Given the description of an element on the screen output the (x, y) to click on. 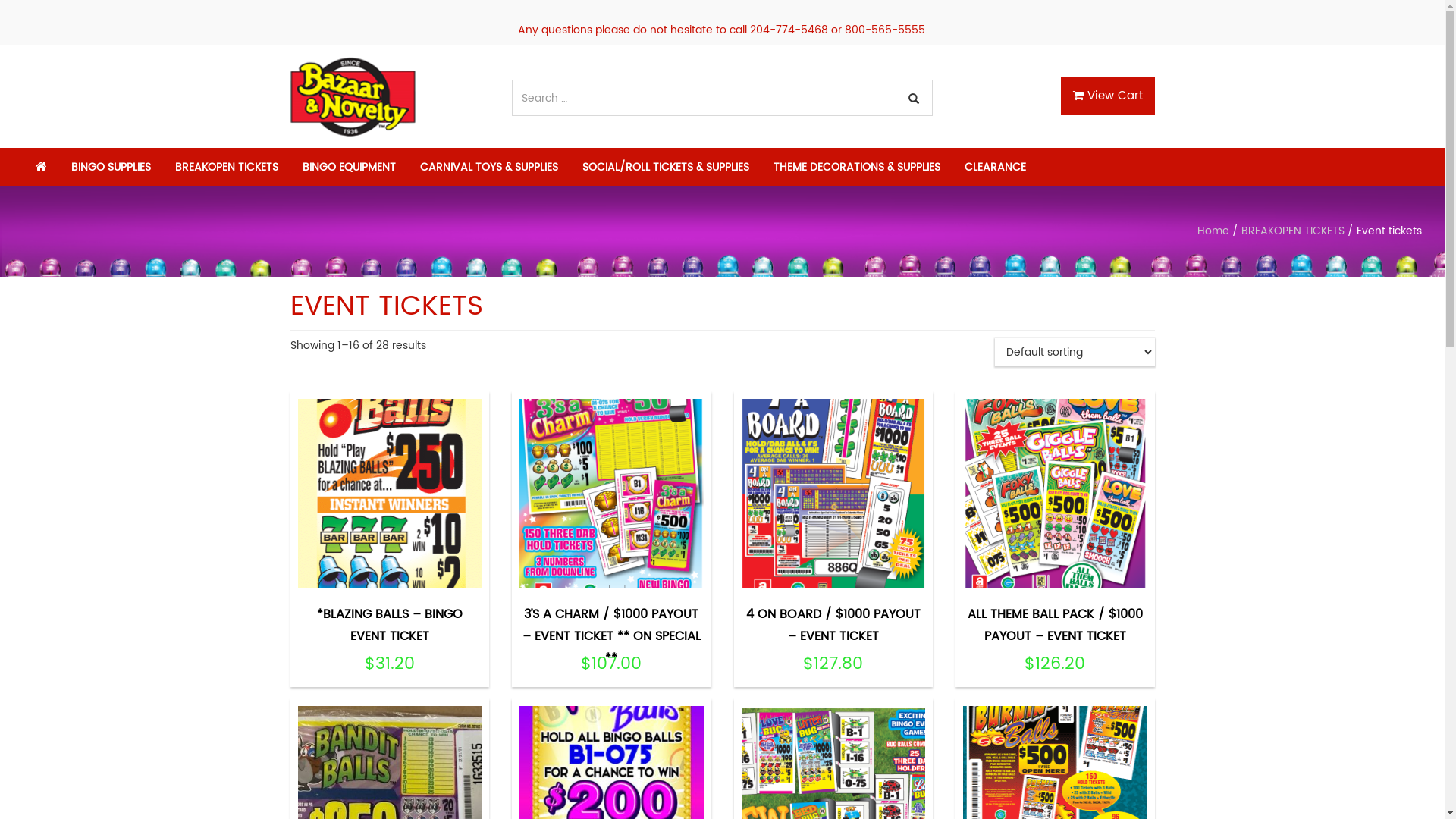
BINGO EQUIPMENT Element type: text (348, 166)
THEME DECORATIONS & SUPPLIES Element type: text (856, 166)
View Cart Element type: text (1107, 95)
Home Element type: text (1213, 230)
800-565-5555 Element type: text (884, 29)
204-774-5468 Element type: text (788, 29)
BREAKOPEN TICKETS Element type: text (1292, 230)
SOCIAL/ROLL TICKETS & SUPPLIES Element type: text (665, 166)
CLEARANCE Element type: text (995, 166)
BREAKOPEN TICKETS Element type: text (226, 166)
Bazaar Novelty Element type: hover (351, 96)
BINGO SUPPLIES Element type: text (111, 166)
CARNIVAL TOYS & SUPPLIES Element type: text (488, 166)
